Given the description of an element on the screen output the (x, y) to click on. 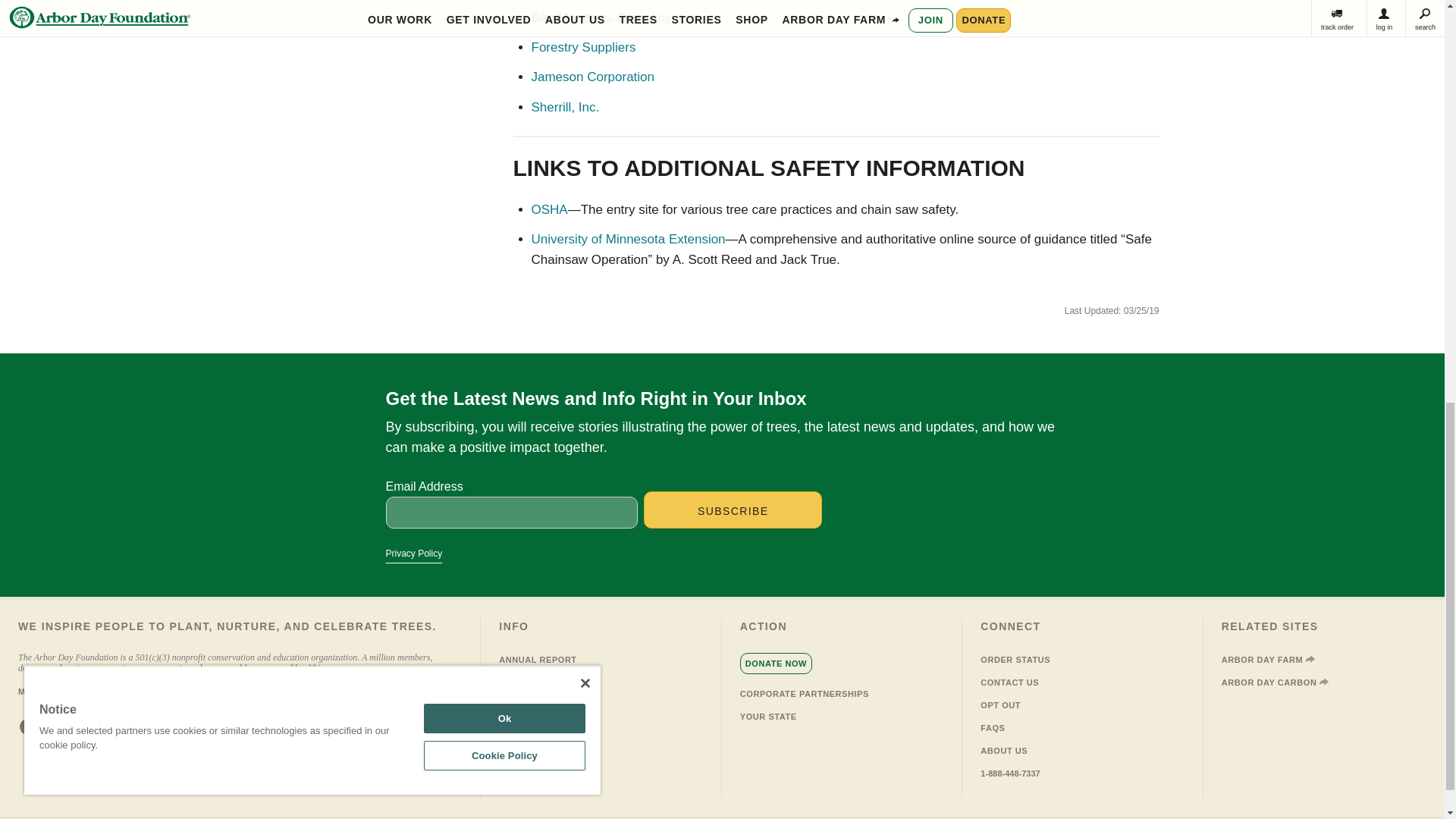
Ben Meadows Company (601, 17)
Jameson Corporation (592, 76)
Sherrill, Inc. (564, 106)
Subscribe (732, 509)
Forestry Suppliers (582, 47)
